Given the description of an element on the screen output the (x, y) to click on. 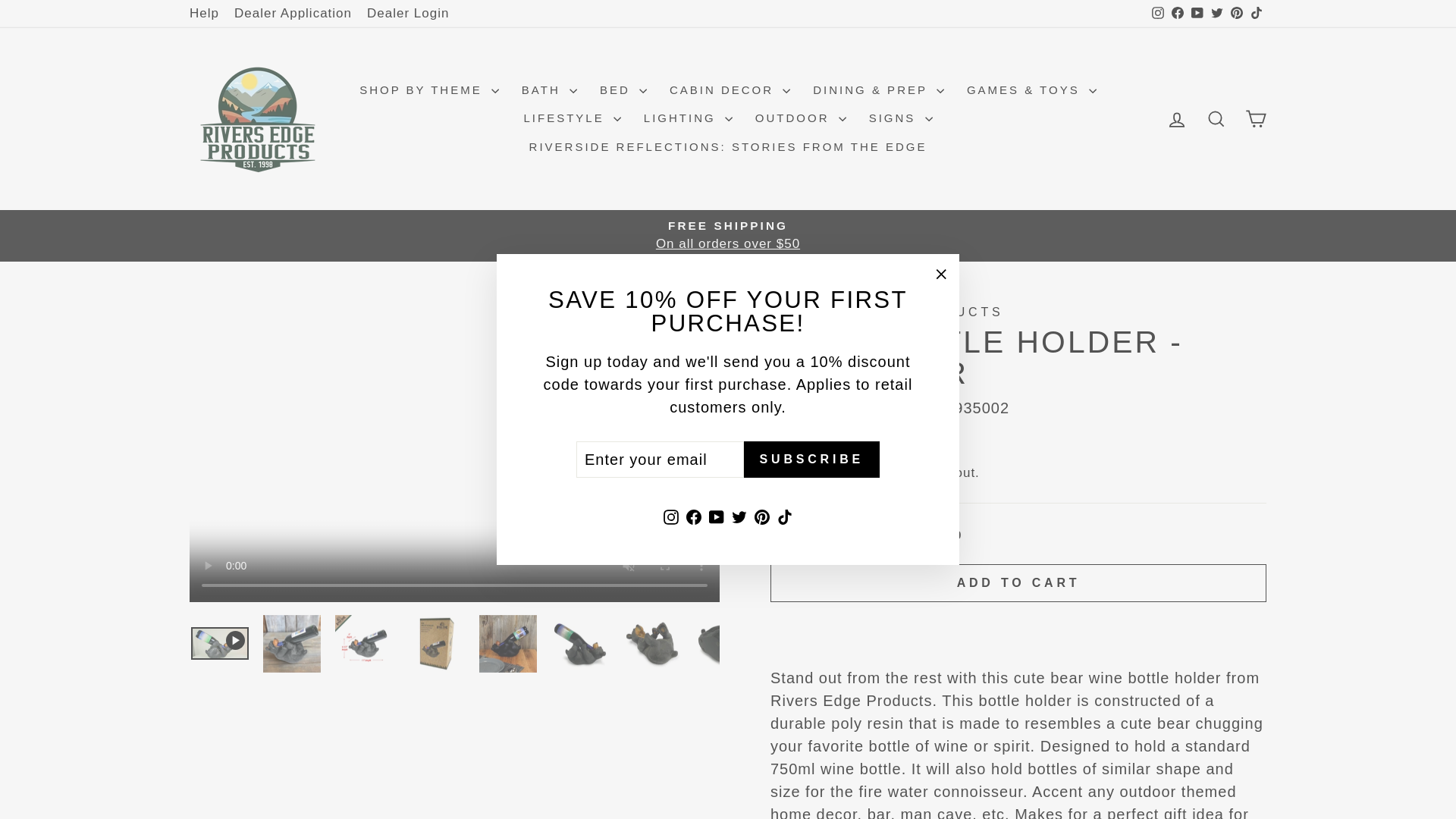
instagram (1157, 12)
ICON-SEARCH (1216, 117)
ACCOUNT (1177, 119)
River's Edge Products (886, 311)
twitter (1217, 12)
